Given the description of an element on the screen output the (x, y) to click on. 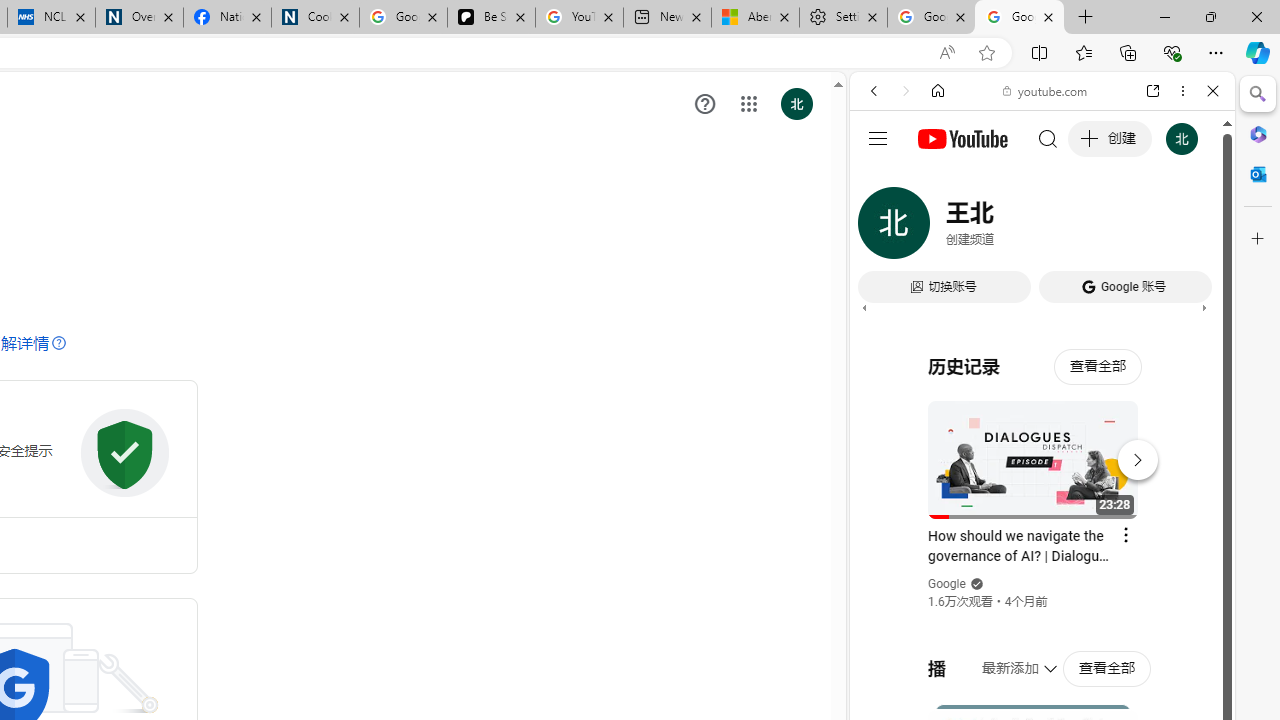
Cookies (315, 17)
Search videos from youtube.com (1005, 657)
Be Smart | creating Science videos | Patreon (491, 17)
